Given the description of an element on the screen output the (x, y) to click on. 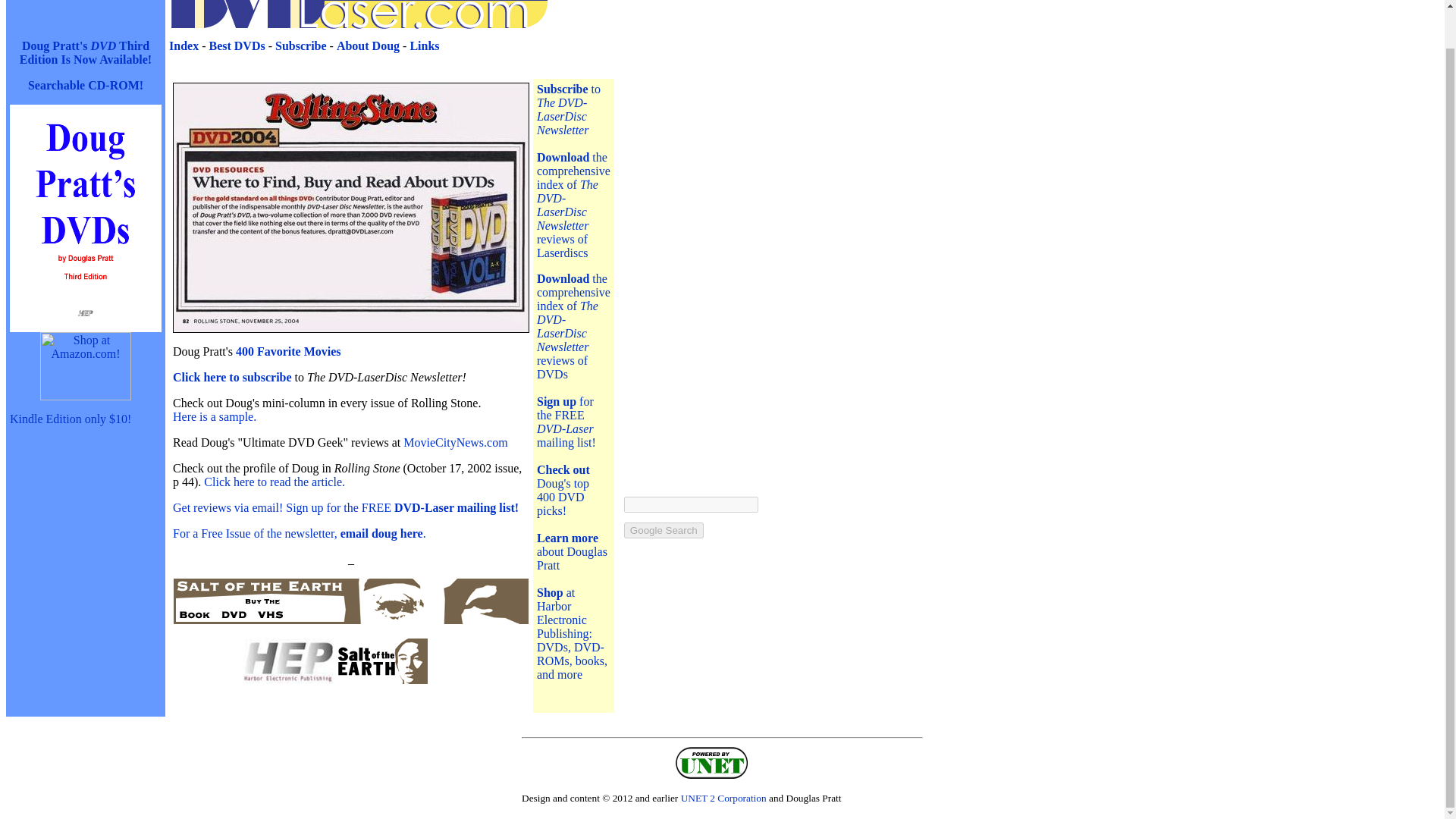
Learn more about Douglas Pratt (572, 551)
Best DVDs (236, 45)
Click here to subscribe (232, 377)
Subscribe (300, 45)
Google Search (663, 530)
Here is a sample. (214, 416)
Searchable CD-ROM! (84, 84)
MovieCityNews.com (454, 441)
For a Free Issue of the newsletter, email doug here. (299, 533)
heck out Doug's top 400 DVD picks! (563, 489)
